Given the description of an element on the screen output the (x, y) to click on. 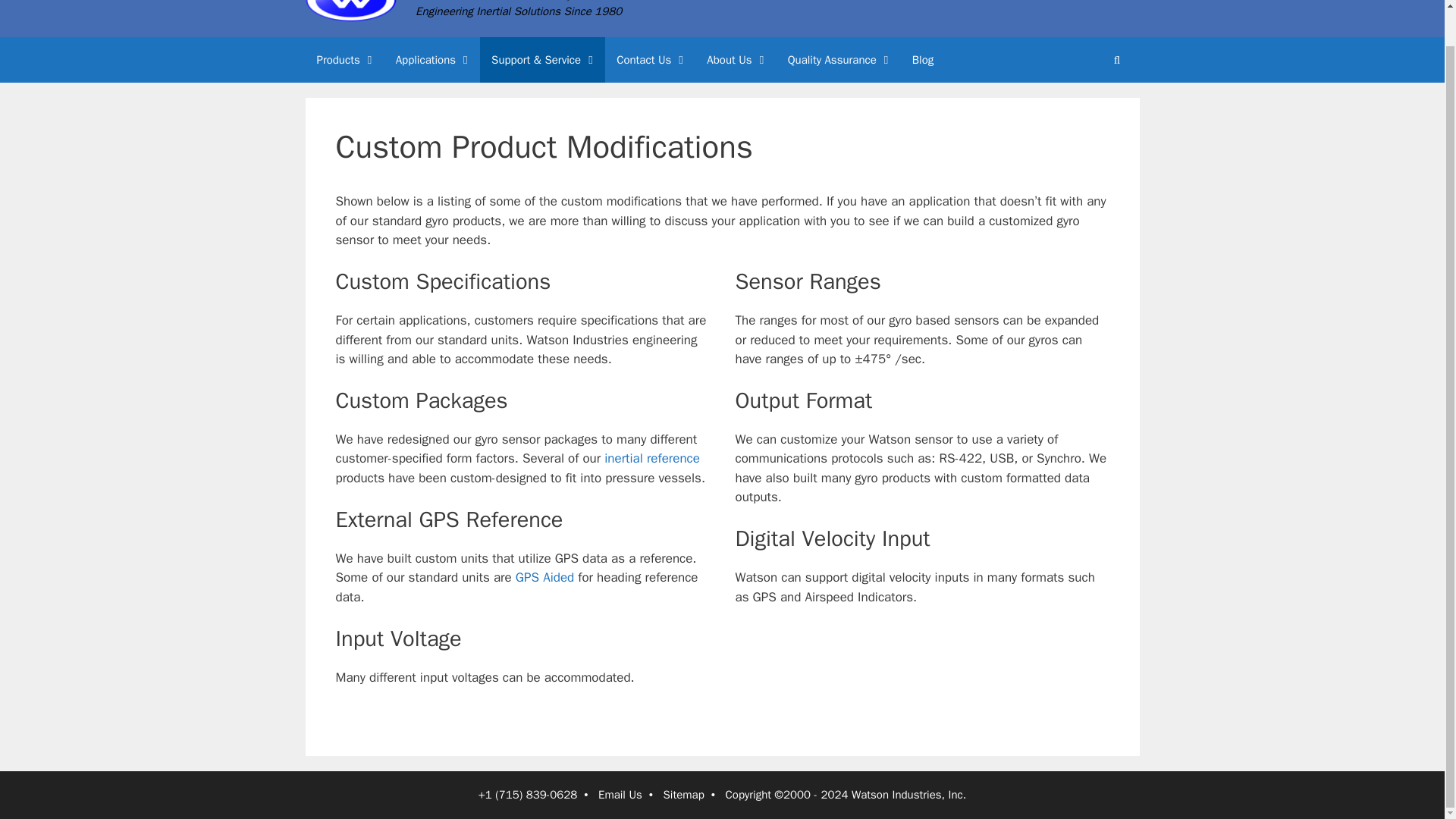
Contact Us (650, 59)
Quality Assurance (838, 59)
Applications (432, 59)
About Us (735, 59)
Products (344, 59)
Watson Industries, Inc. (510, 1)
